Given the description of an element on the screen output the (x, y) to click on. 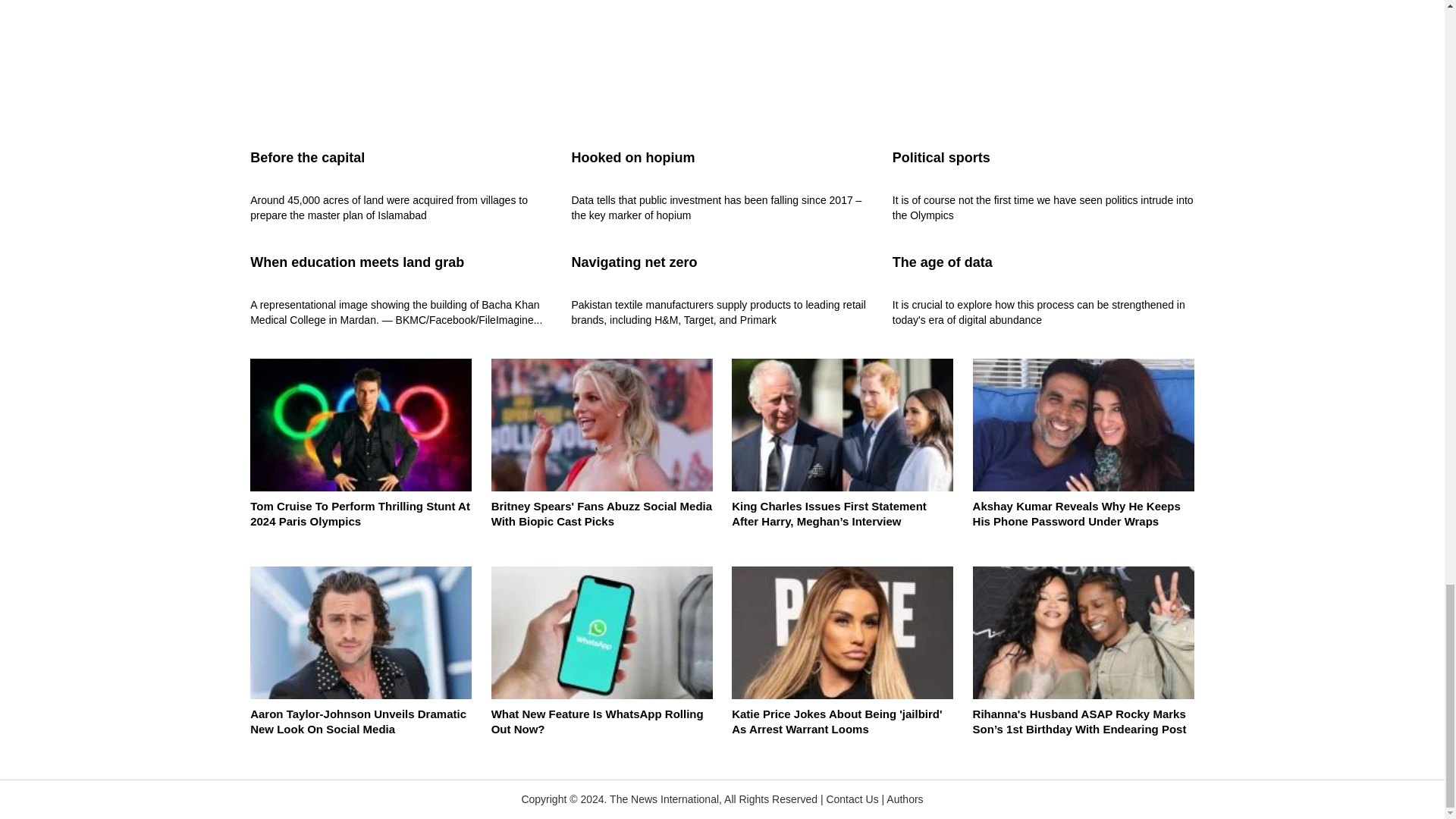
Tom Cruise To Perform Thrilling Stunt At 2024 Paris Olympics (360, 451)
